Given the description of an element on the screen output the (x, y) to click on. 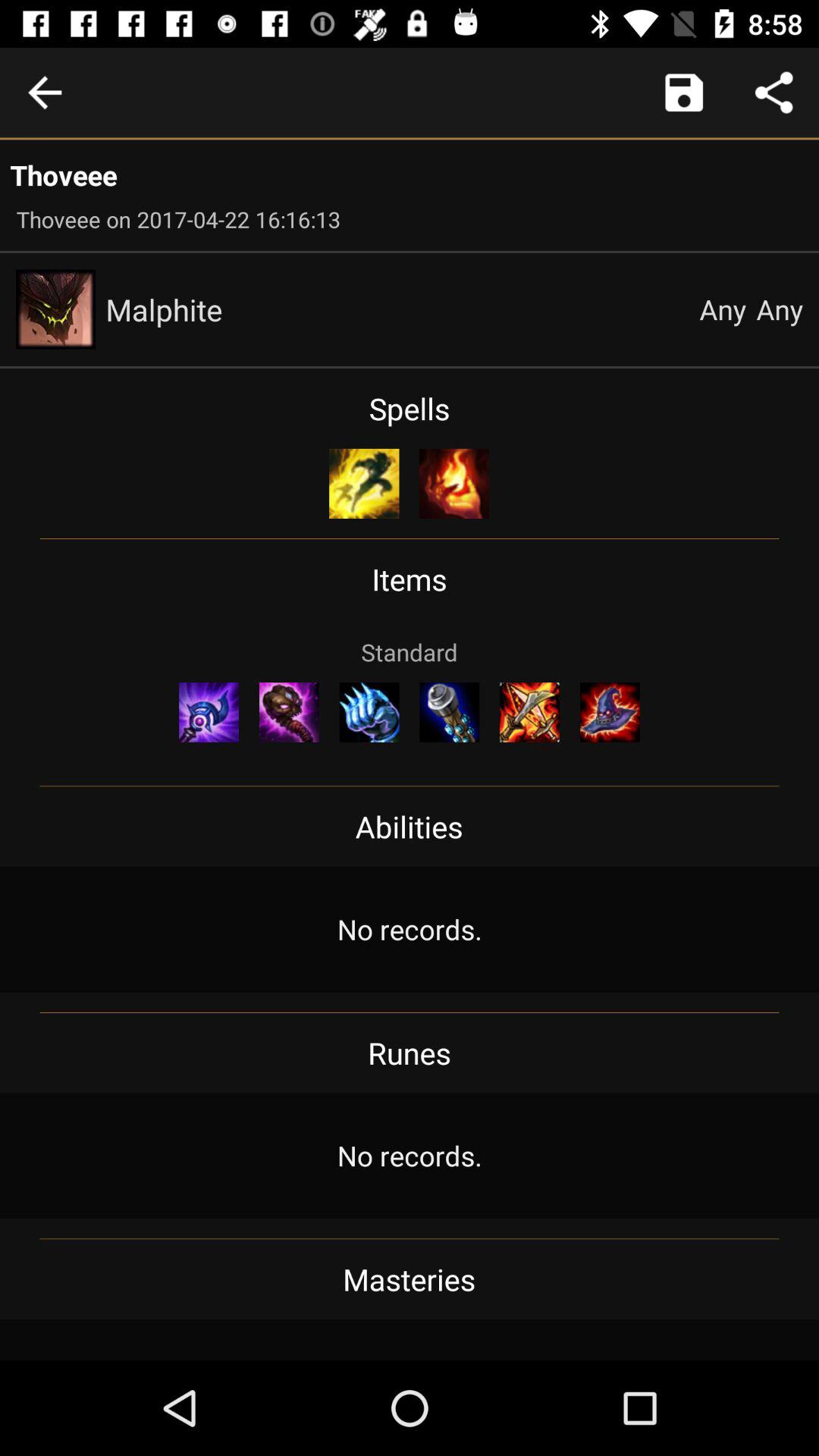
launch the item on the left (208, 712)
